Given the description of an element on the screen output the (x, y) to click on. 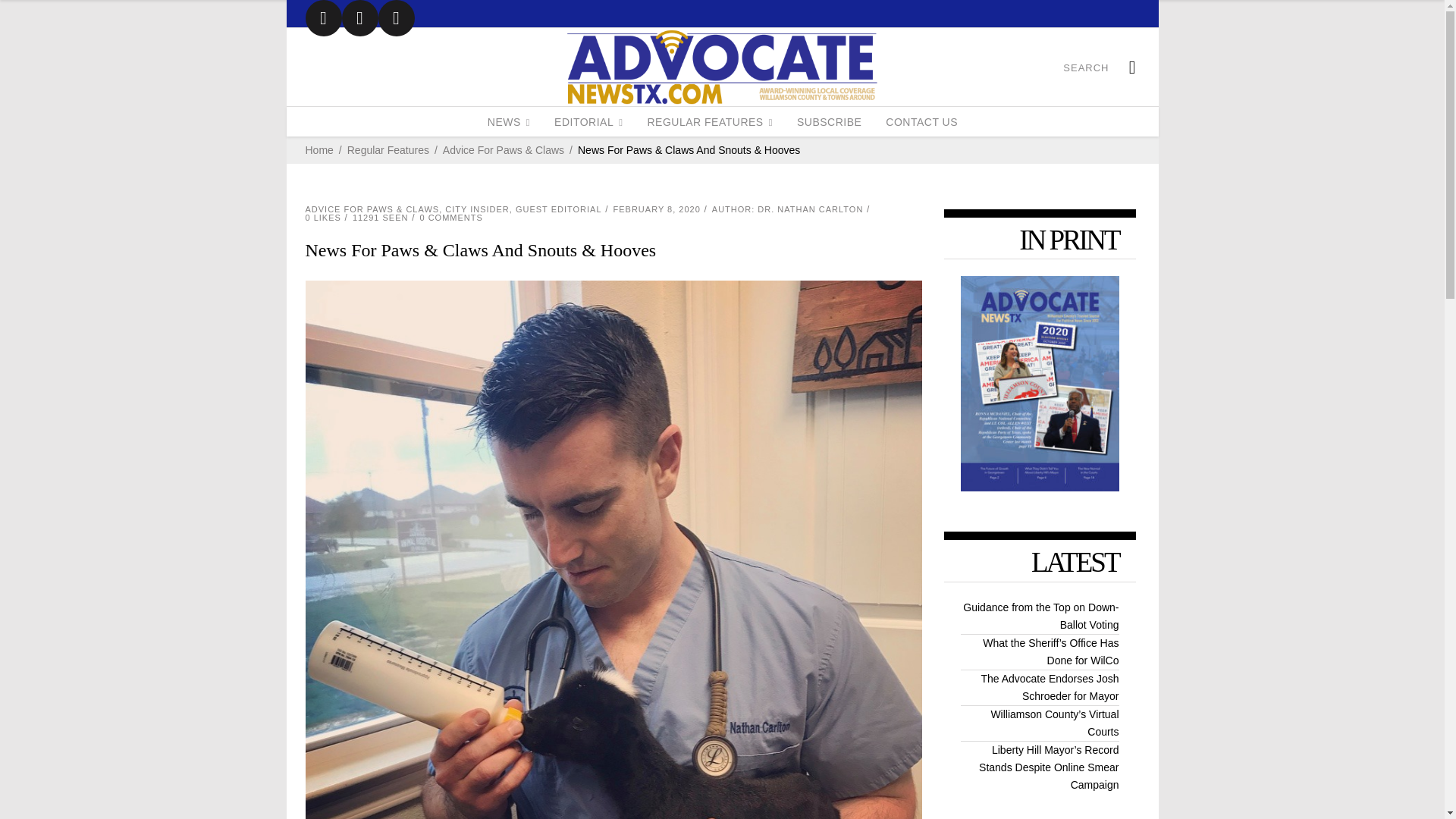
CONTACT US (921, 121)
EDITORIAL (587, 121)
NEWS (508, 121)
SUBSCRIBE (828, 121)
REGULAR FEATURES (709, 121)
